Given the description of an element on the screen output the (x, y) to click on. 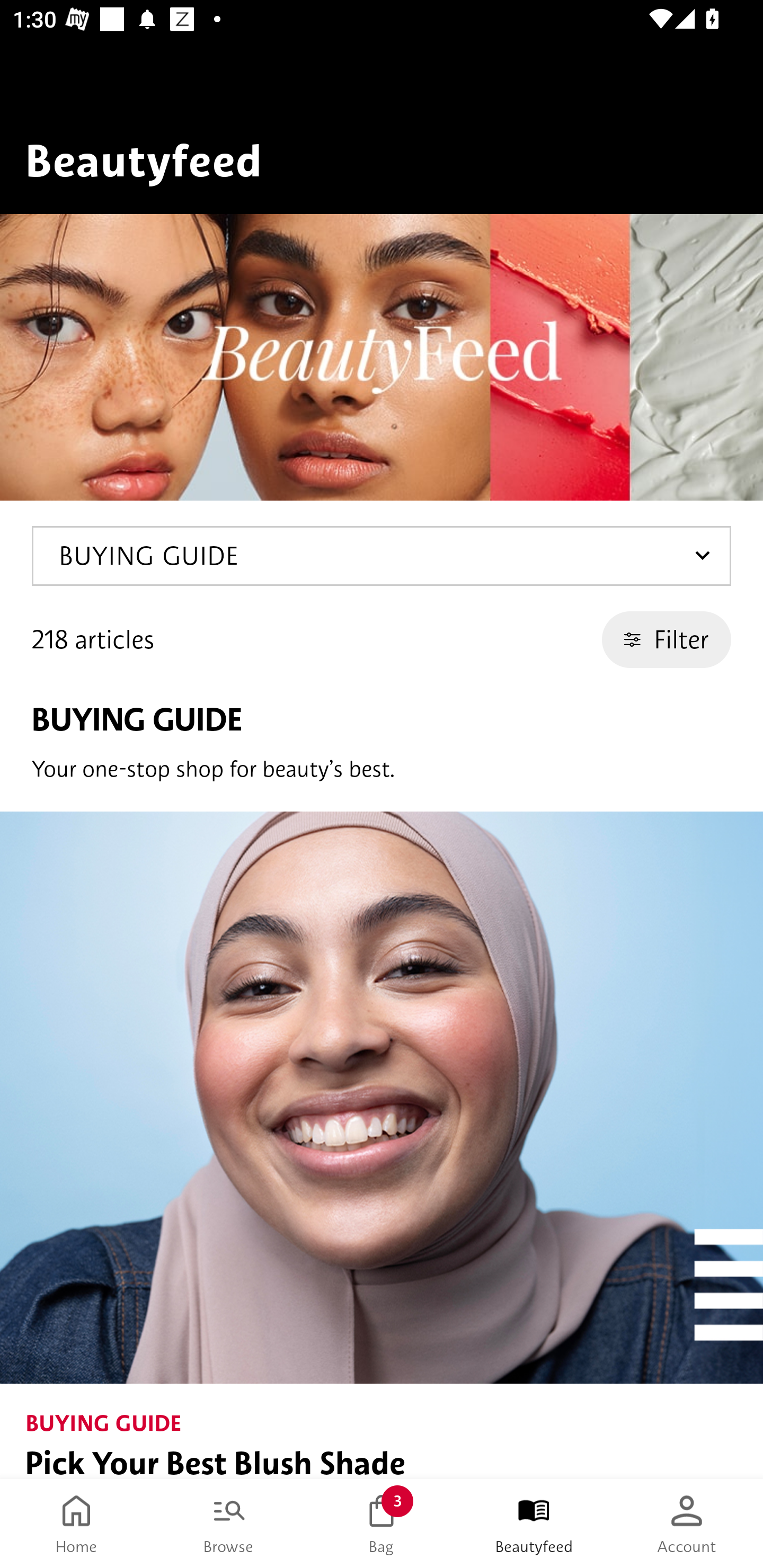
BUYING GUIDE (381, 555)
Filter (666, 639)
BUYING GUIDE Pick Your Best Blush Shade (381, 1145)
Home (76, 1523)
Browse (228, 1523)
Bag 3 Bag (381, 1523)
Account (686, 1523)
